Given the description of an element on the screen output the (x, y) to click on. 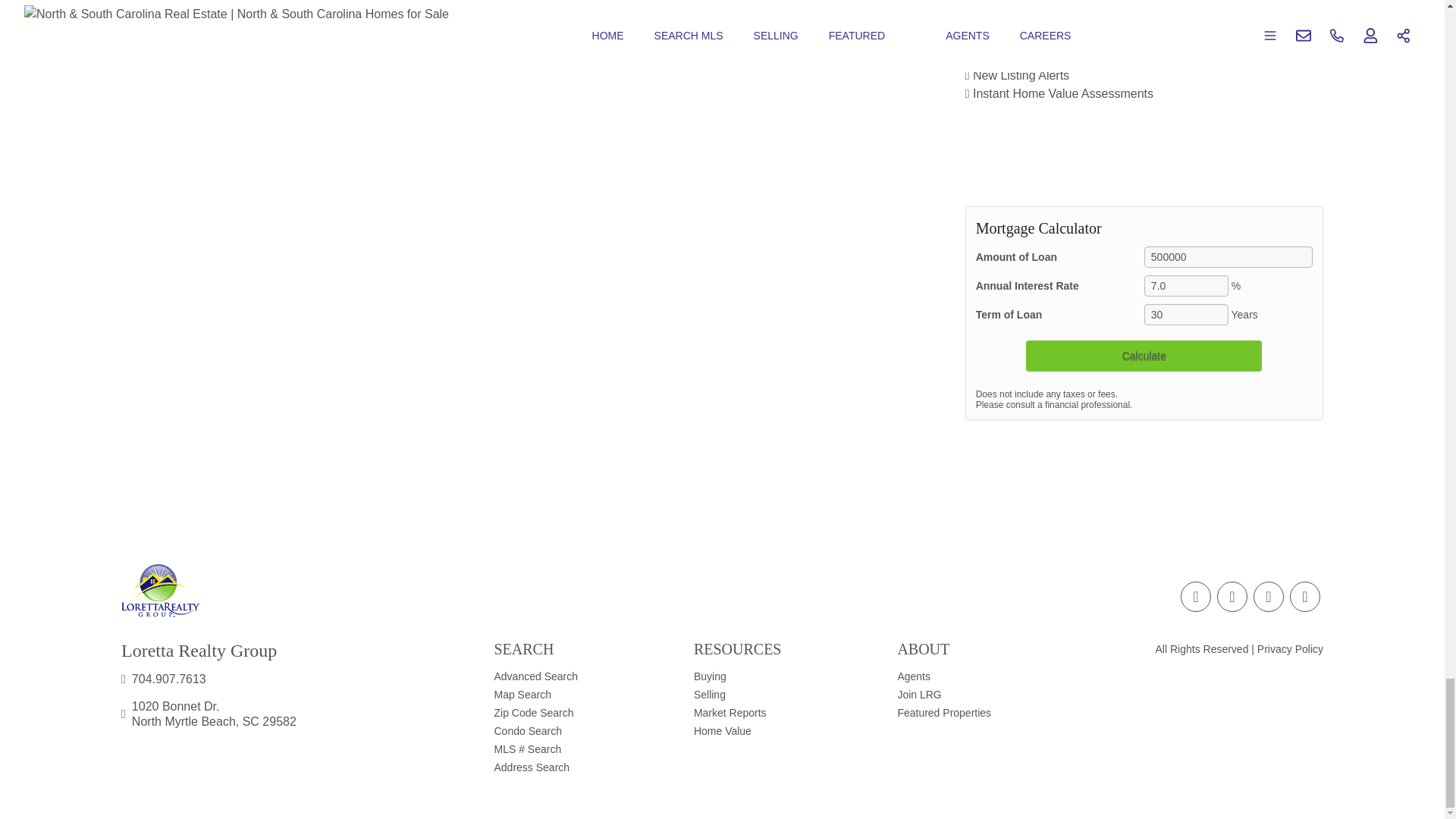
7.0 (1186, 285)
30 (1186, 314)
500000 (1228, 256)
